Given the description of an element on the screen output the (x, y) to click on. 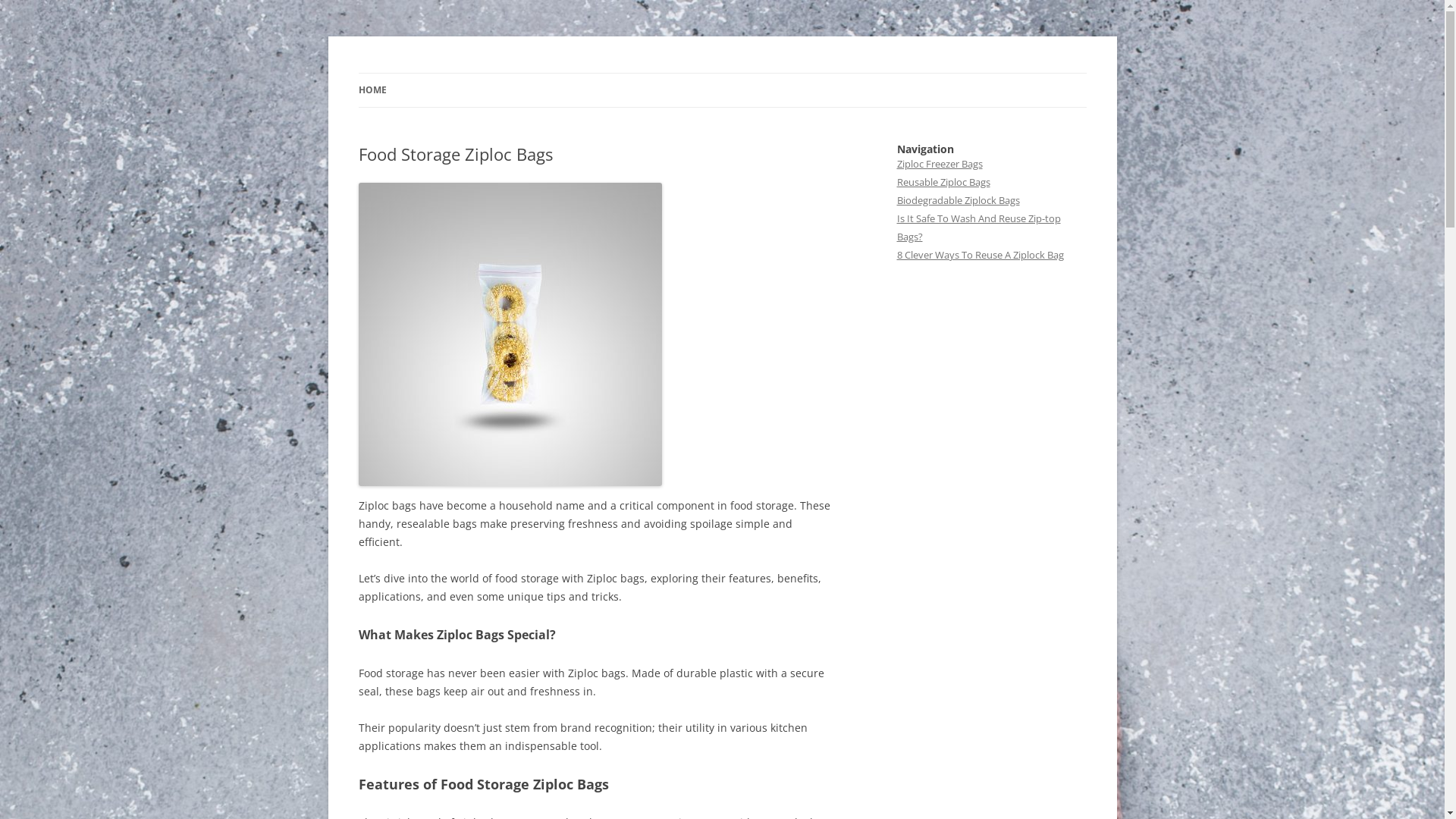
Biodegradable Ziplock Bags Element type: text (957, 200)
Is It Safe To Wash And Reuse Zip-top Bags? Element type: text (978, 227)
HOME Element type: text (371, 89)
Skip to content Element type: text (721, 72)
8 Clever Ways To Reuse A Ziplock Bag Element type: text (979, 254)
Ziploc Freezer Bags Element type: text (939, 163)
Reusable Ziploc Bags Element type: text (942, 181)
